Given the description of an element on the screen output the (x, y) to click on. 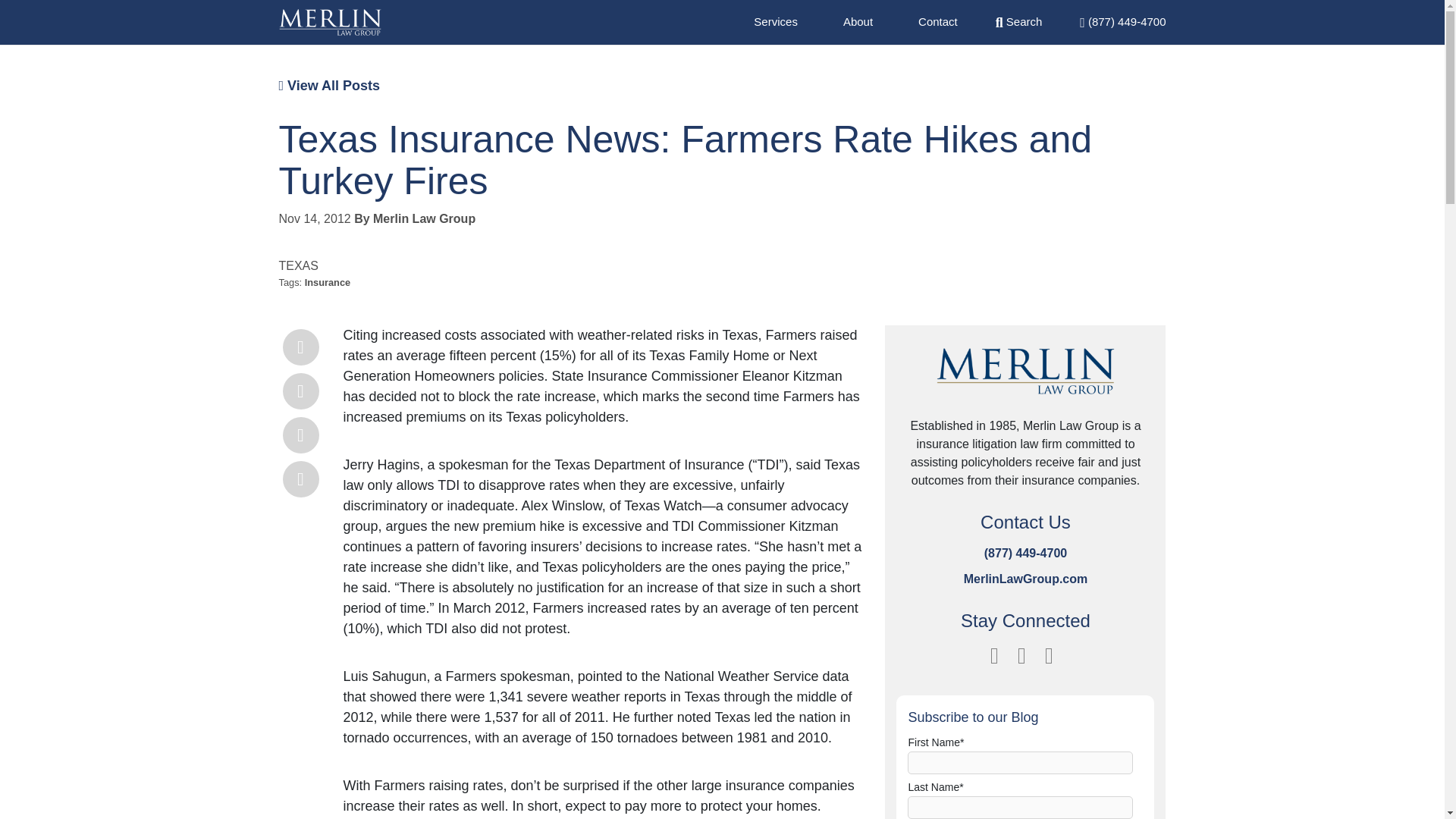
View All Posts (329, 85)
TEXAS (298, 265)
Services (775, 21)
Contact (938, 21)
Property Insurance Coverage Law Blog (330, 22)
Menu (1123, 21)
MerlinLawGroup.com (1025, 578)
About (857, 21)
Property Insurance Coverage Law Blog (1025, 381)
Search (1018, 21)
